Given the description of an element on the screen output the (x, y) to click on. 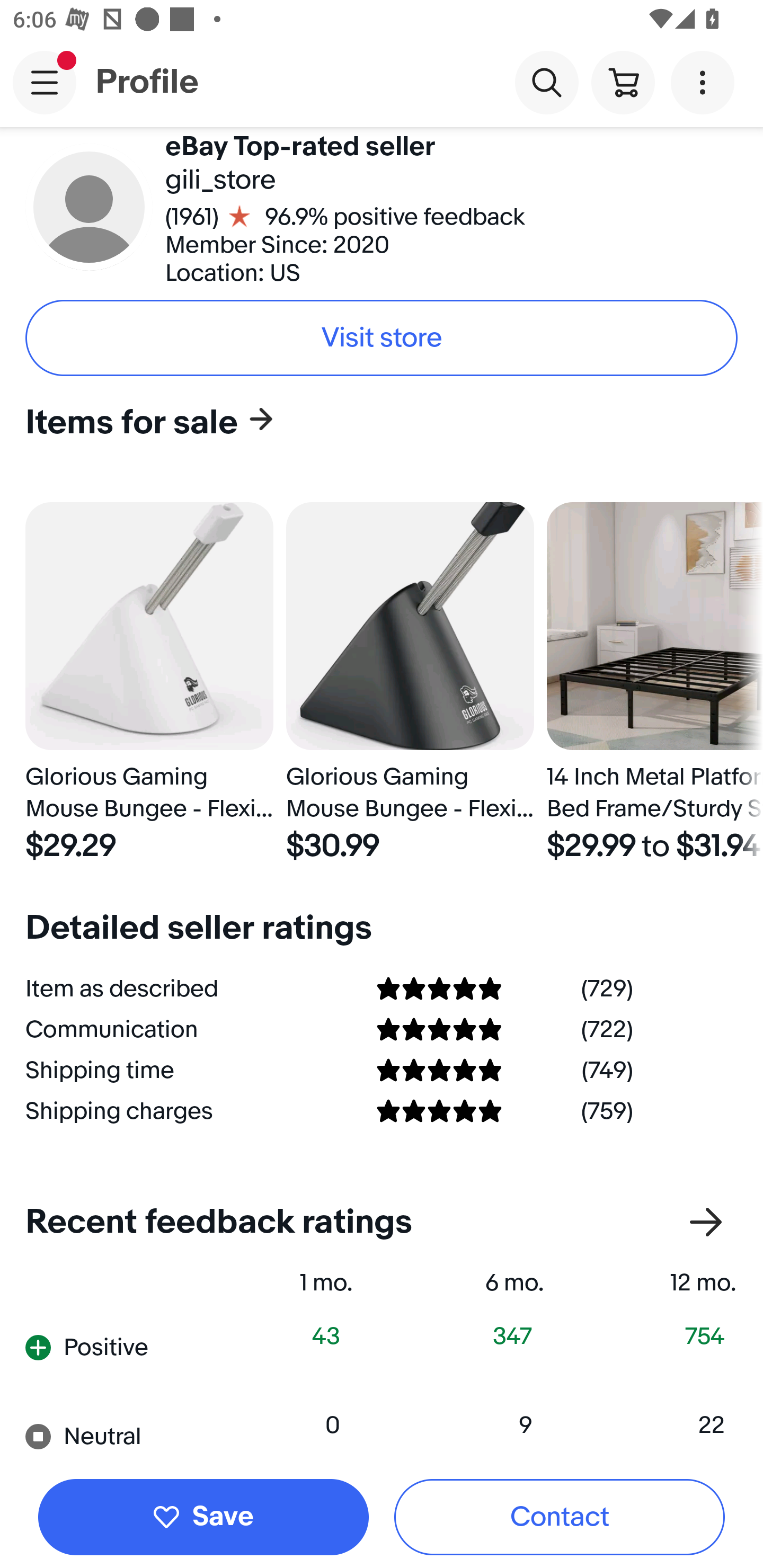
Main navigation, notification is pending, open (44, 82)
Search (546, 81)
Cart button shopping cart (623, 81)
More options (705, 81)
Visit store (381, 337)
Items for sale Items for sale   (374, 422)
Recent feedback ratings (381, 1222)
Positive Open all positive rating details. (112, 1347)
Neutral Open all neutral rating details. (112, 1432)
Save (203, 1516)
Contact (559, 1516)
